Given the description of an element on the screen output the (x, y) to click on. 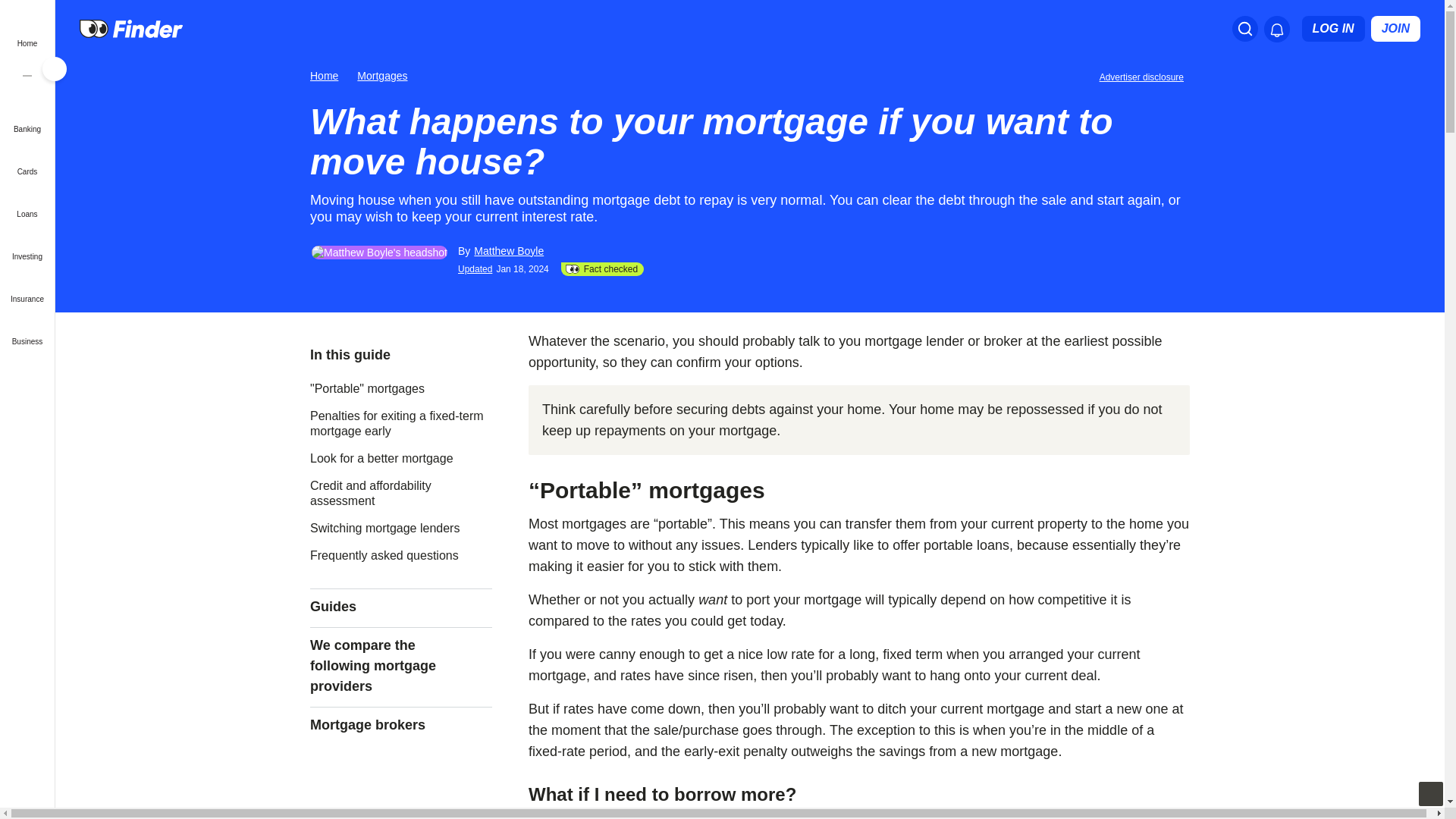
Back to Top (1430, 793)
Important information about this website (1144, 76)
